Given the description of an element on the screen output the (x, y) to click on. 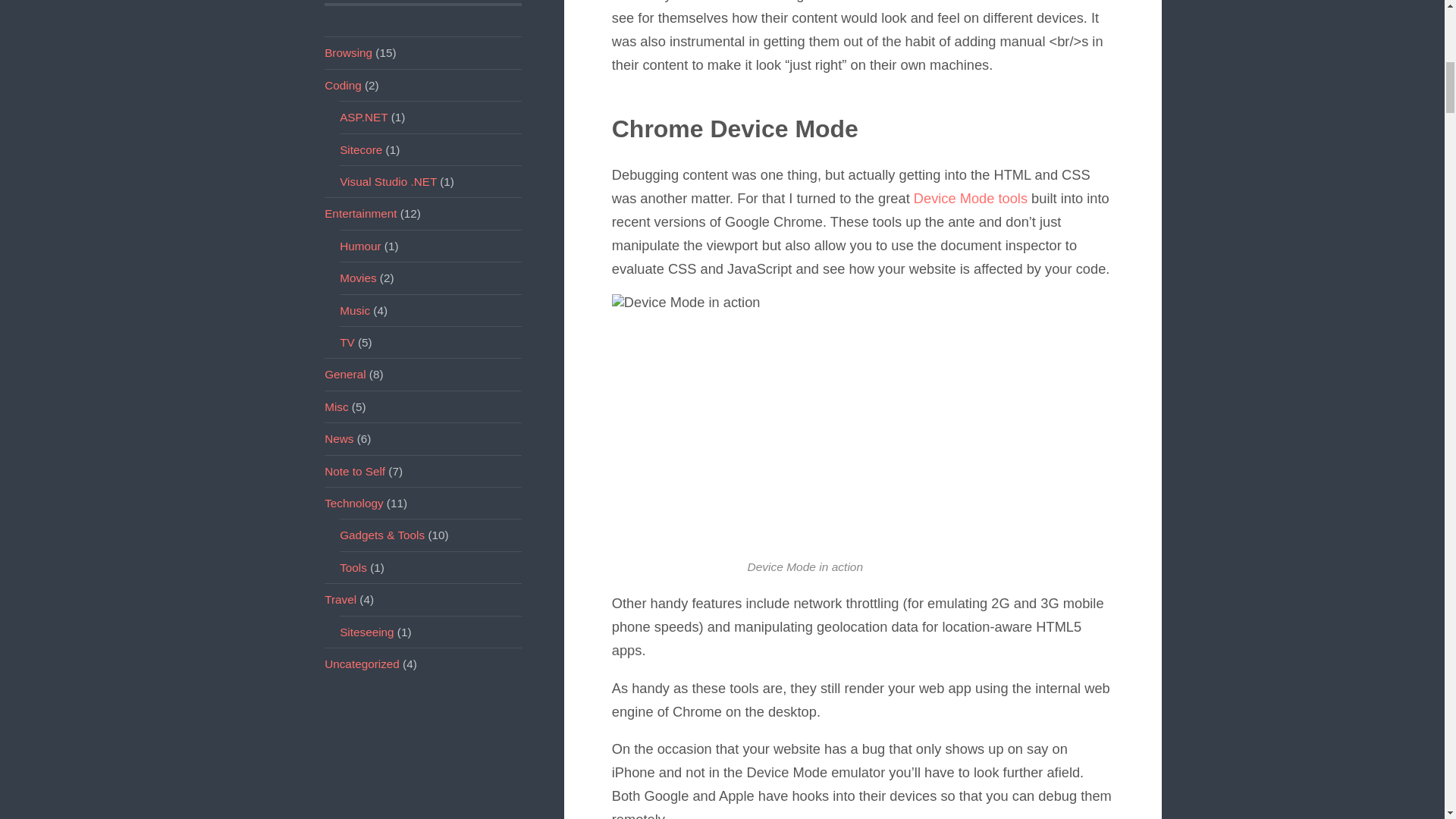
Movies (357, 277)
Sitecore (360, 149)
TV (347, 341)
Visual Studio .NET (387, 181)
Humour (359, 245)
Browsing (348, 51)
Device Mode tools (970, 198)
ASP.NET (363, 116)
General (344, 373)
News (338, 438)
Siteseeing (366, 631)
Uncategorized (361, 663)
Misc (335, 406)
Entertainment (360, 213)
Note to Self (354, 471)
